Given the description of an element on the screen output the (x, y) to click on. 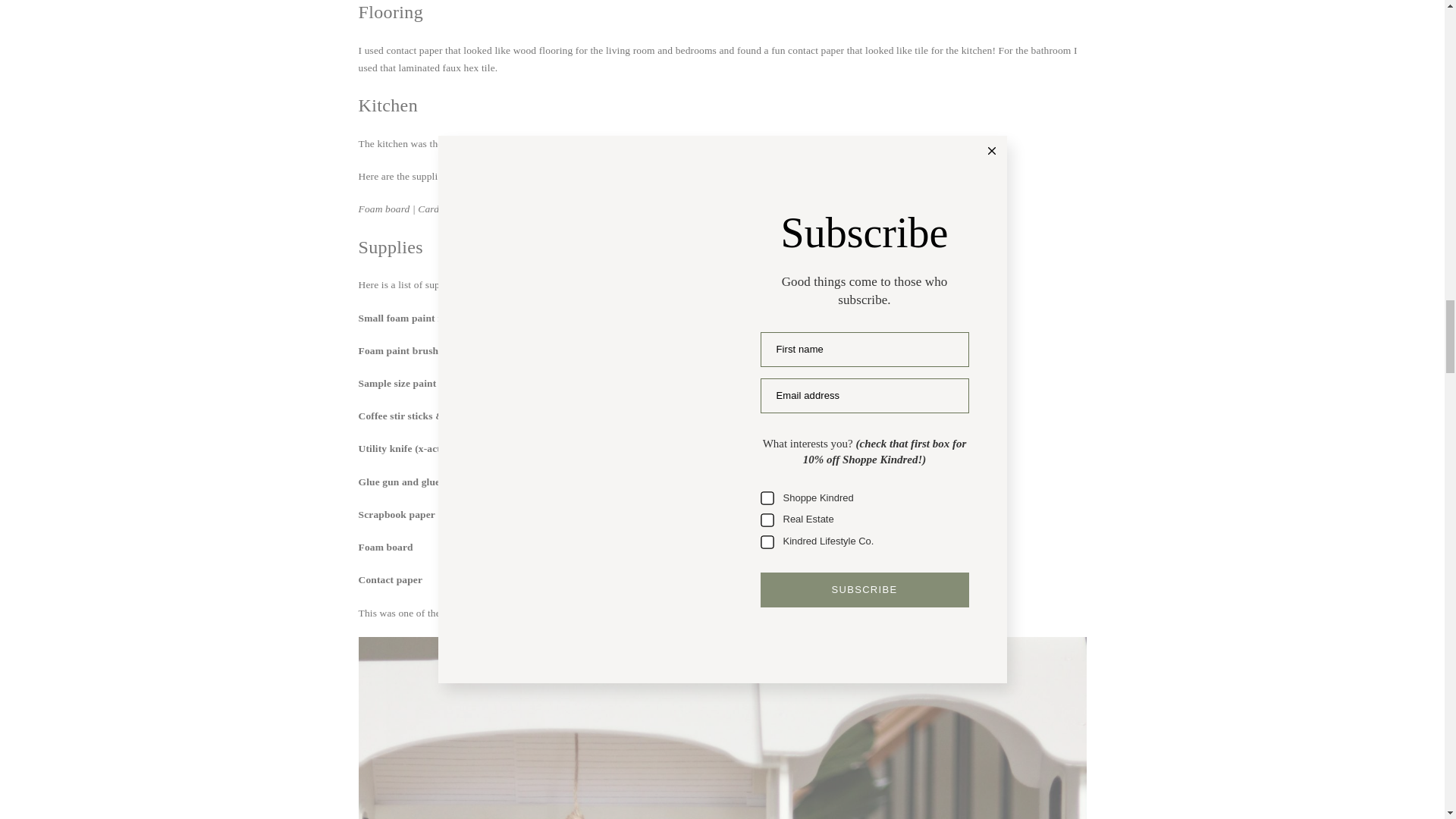
Instagram story highlight (892, 143)
